Given the description of an element on the screen output the (x, y) to click on. 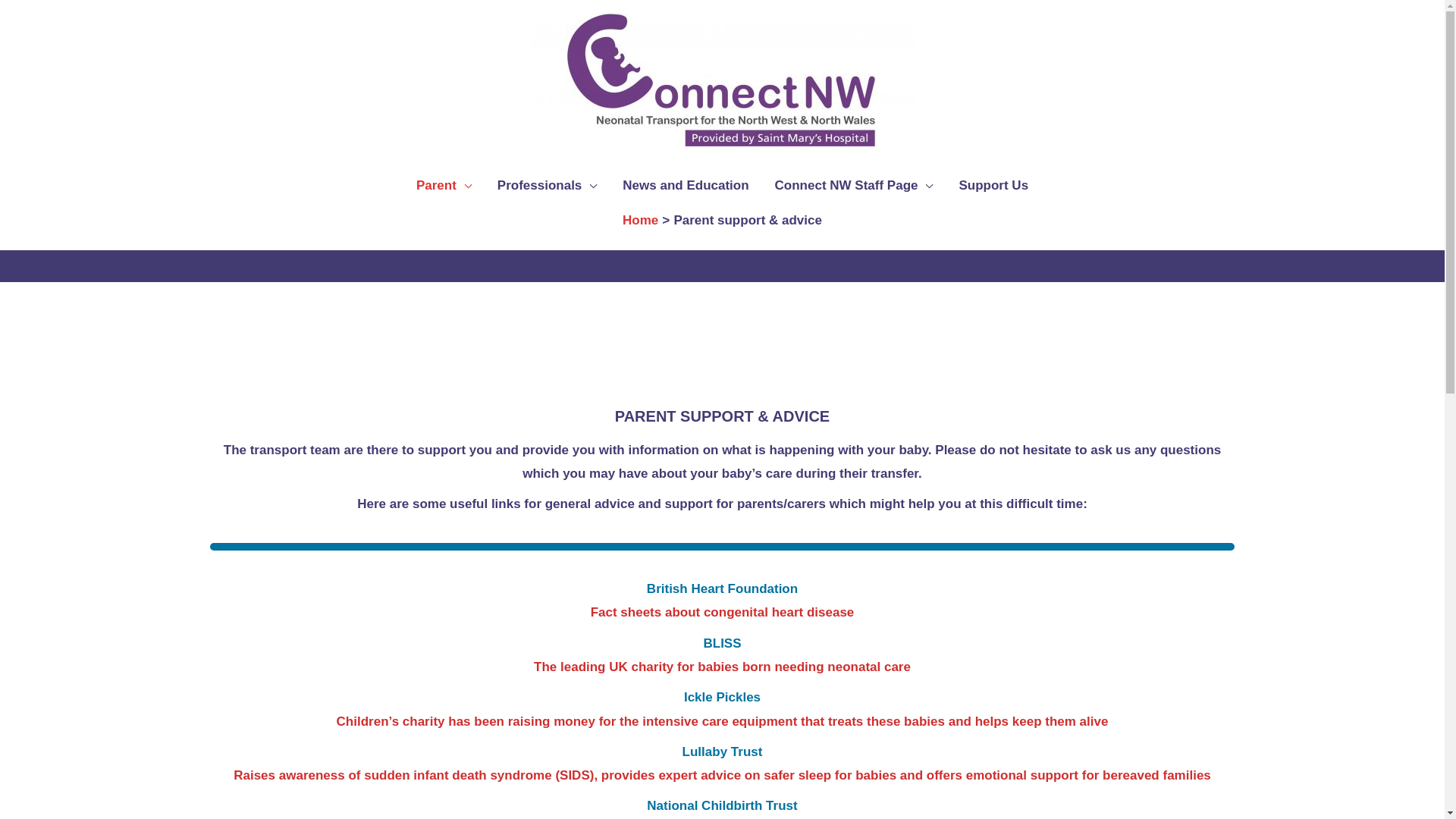
National Childbirth Trust Element type: text (721, 805)
Connect NW Staff Page Element type: text (854, 185)
Ickle Pickles Element type: text (722, 697)
Support Us Element type: text (993, 185)
BLISS Element type: text (721, 643)
Lullaby Trust Element type: text (722, 751)
News and Education Element type: text (685, 185)
Home Element type: text (640, 220)
Parent Element type: text (443, 185)
Professionals Element type: text (547, 185)
British Heart Foundation Element type: text (721, 588)
